Given the description of an element on the screen output the (x, y) to click on. 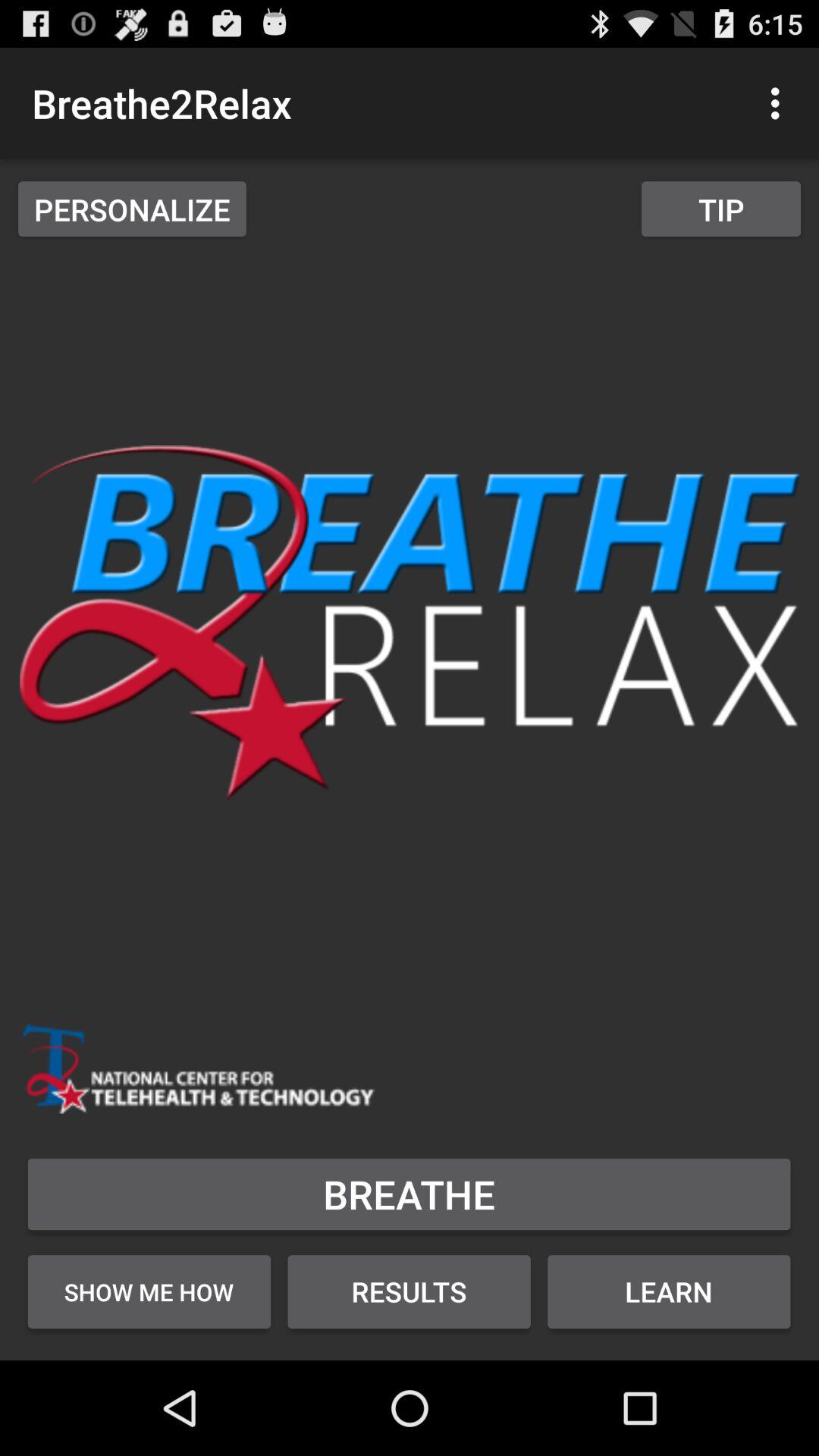
launch item below the breathe button (408, 1291)
